Given the description of an element on the screen output the (x, y) to click on. 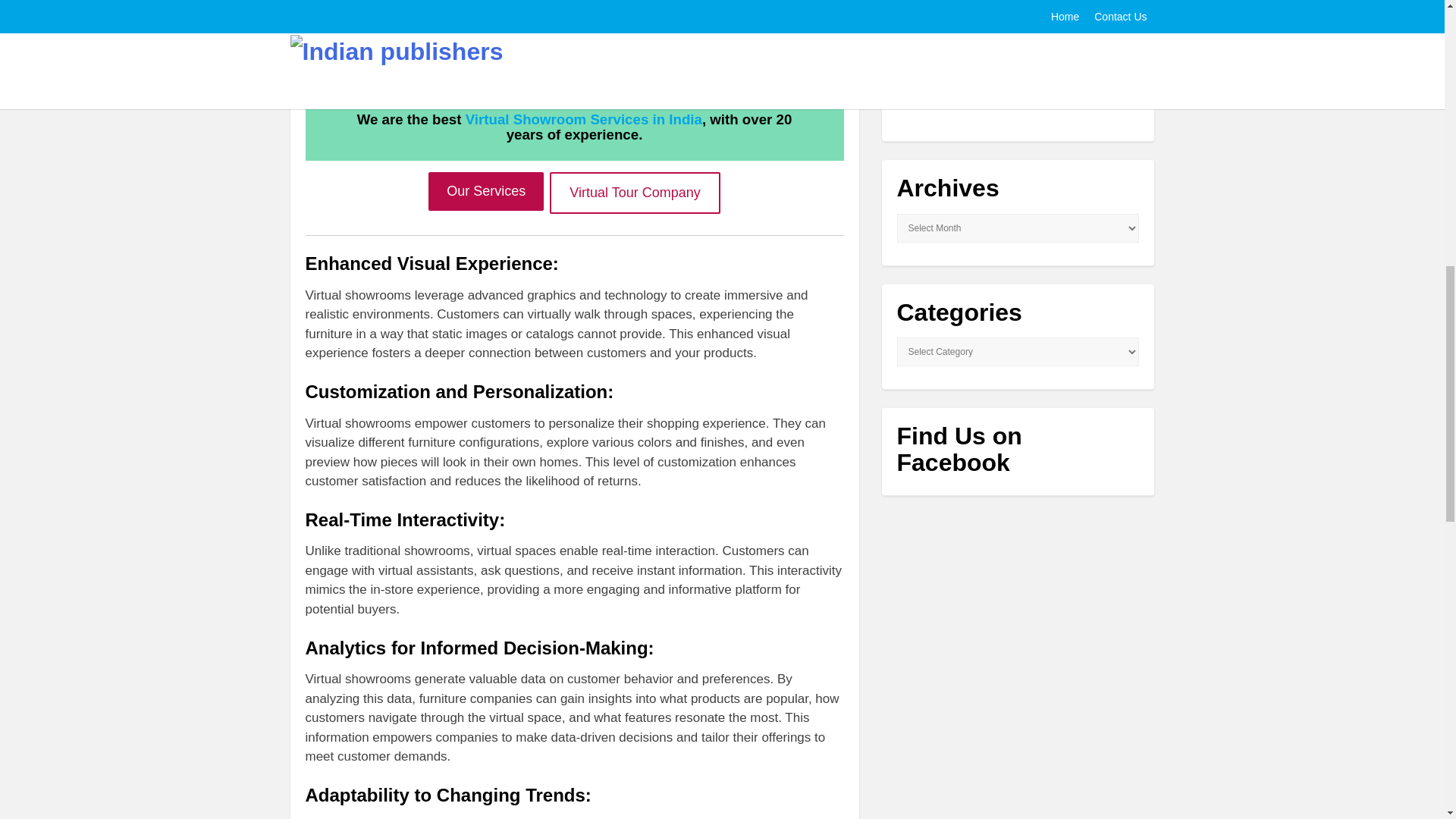
Application of virtual showroom in various industries 2024 (1049, 65)
Virtual Tour Company (634, 192)
Application of virtual showroom in various industries 2024 (924, 66)
Our Services (485, 190)
Virtual Showroom Services in India (583, 119)
